Given the description of an element on the screen output the (x, y) to click on. 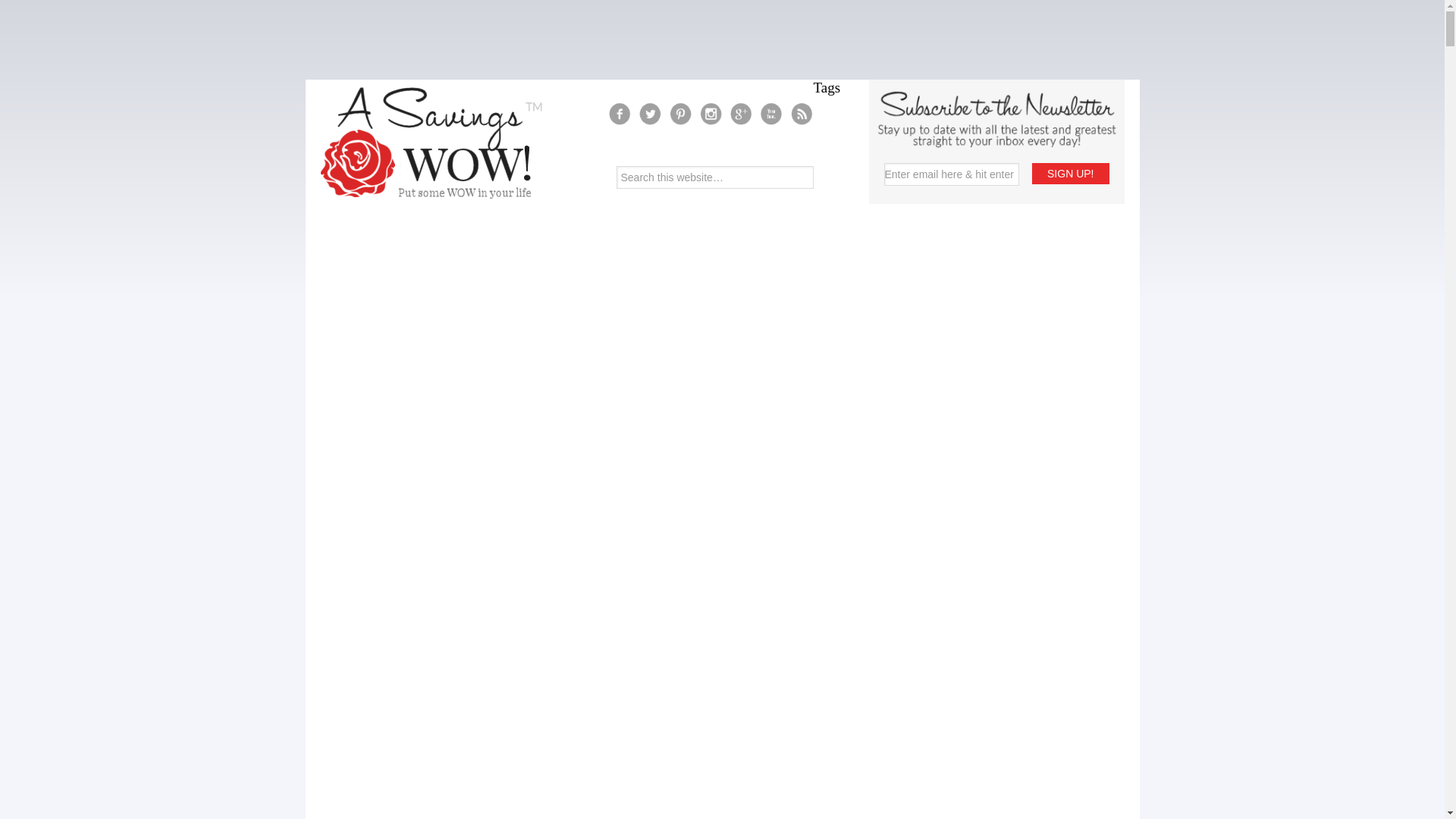
magazines (866, 702)
Sign Up! (1070, 173)
charity (866, 240)
Advertisement (721, 38)
Household (866, 608)
Meats (866, 719)
Hair Care (866, 550)
free (866, 461)
daily deal (866, 354)
Foods (866, 434)
A SAVINGS WOW! (430, 142)
linky (866, 685)
Sign Up! (1070, 173)
Kindle (866, 667)
CVS (866, 332)
